Given the description of an element on the screen output the (x, y) to click on. 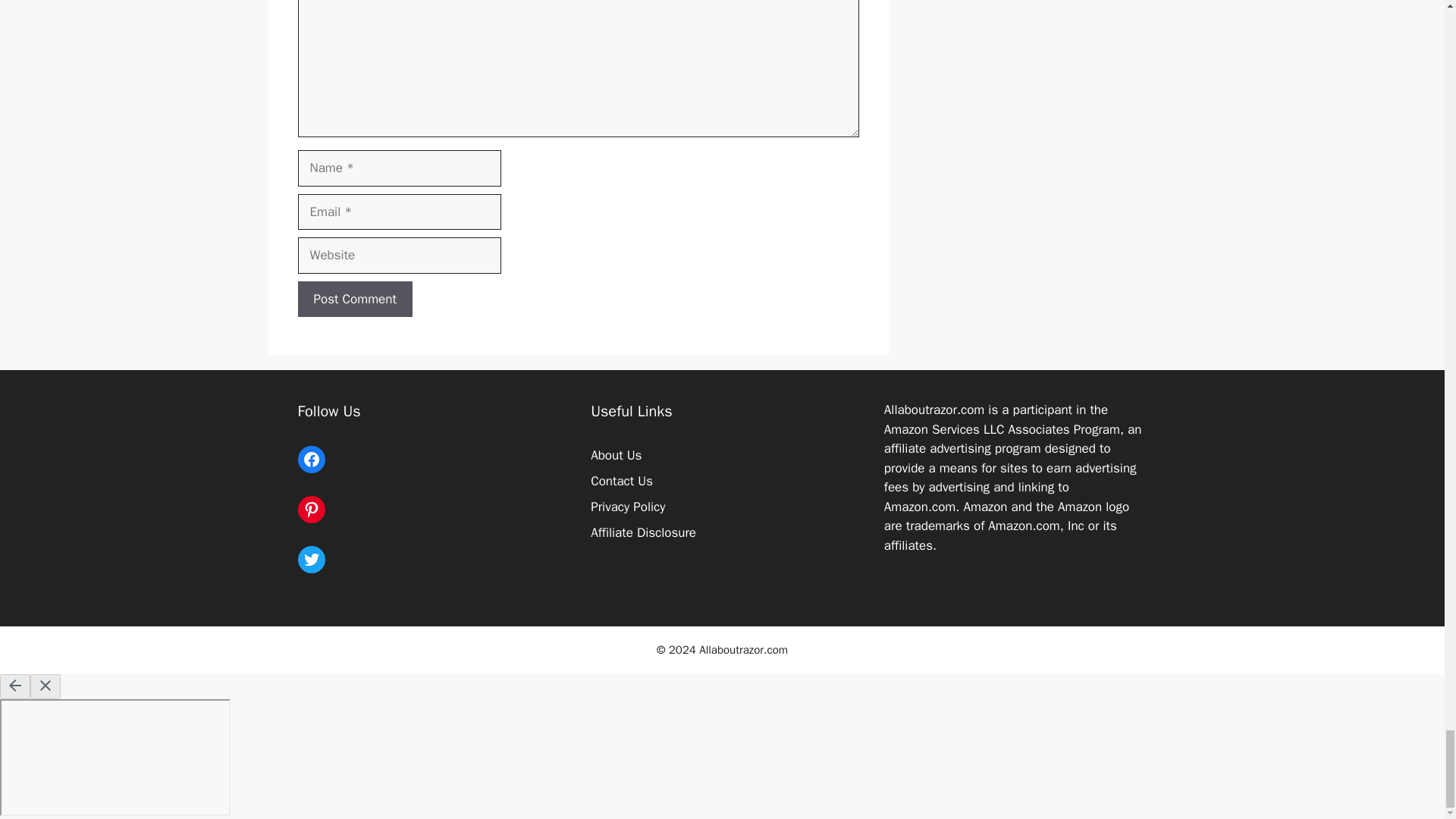
Privacy Policy (628, 506)
About Us (616, 455)
Privacy Policy (628, 506)
Post Comment (354, 299)
Contact Us (621, 480)
About Us (616, 455)
Post Comment (354, 299)
Pinterest (310, 509)
Contact Us (621, 480)
Facebook (310, 459)
Affiliate Disclosure (643, 532)
Affiliate Disclosure (643, 532)
Twitter (310, 559)
